Given the description of an element on the screen output the (x, y) to click on. 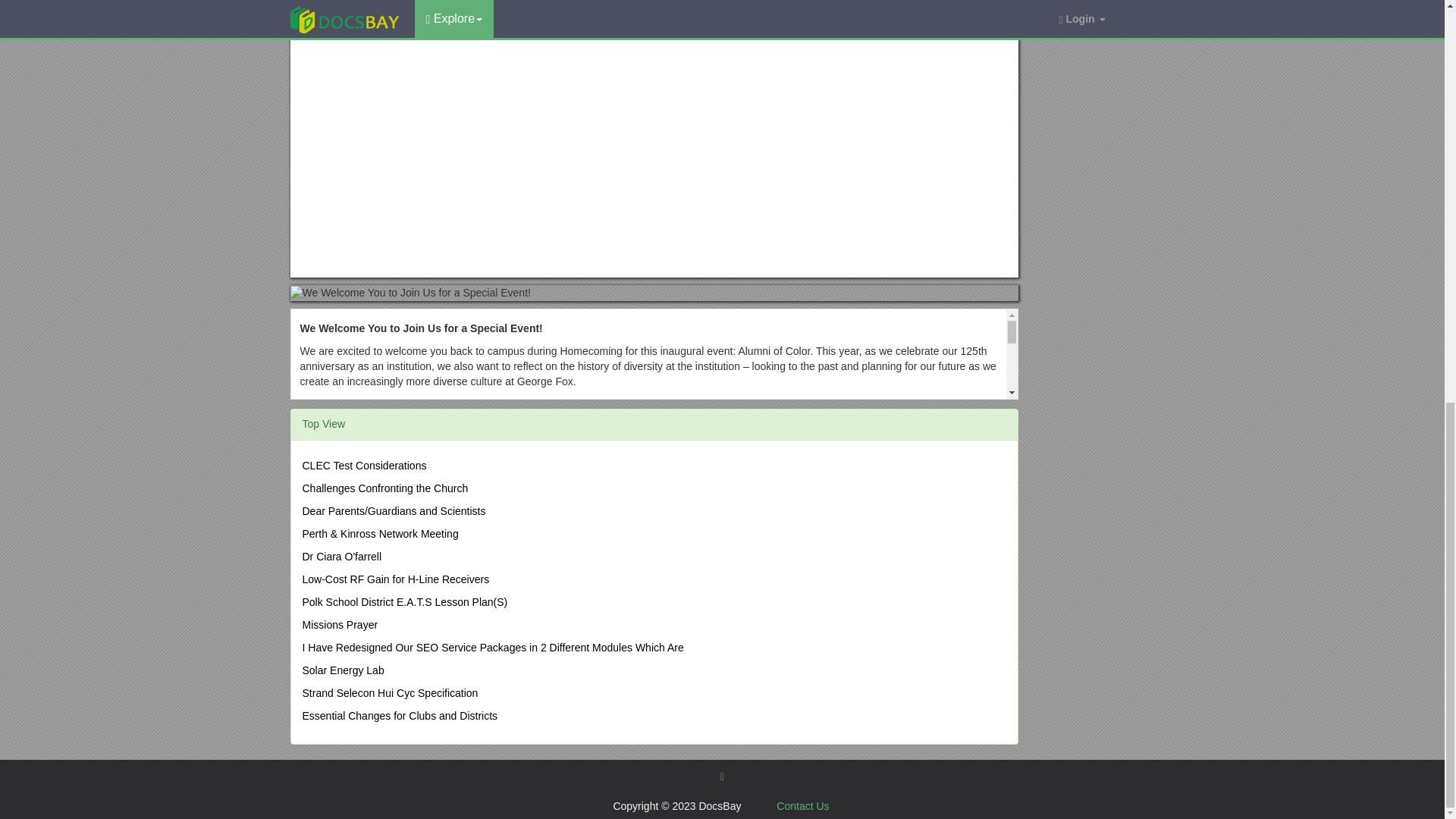
Essential Changes for Clubs and Districts (399, 715)
Low-Cost RF Gain for H-Line Receivers (395, 579)
Strand Selecon Hui Cyc Specification (389, 693)
Challenges Confronting the Church (384, 488)
Solar Energy Lab (342, 670)
Contact Us (802, 806)
CLEC Test Considerations (363, 465)
Dr Ciara O'farrell (341, 556)
Missions Prayer (339, 624)
